Given the description of an element on the screen output the (x, y) to click on. 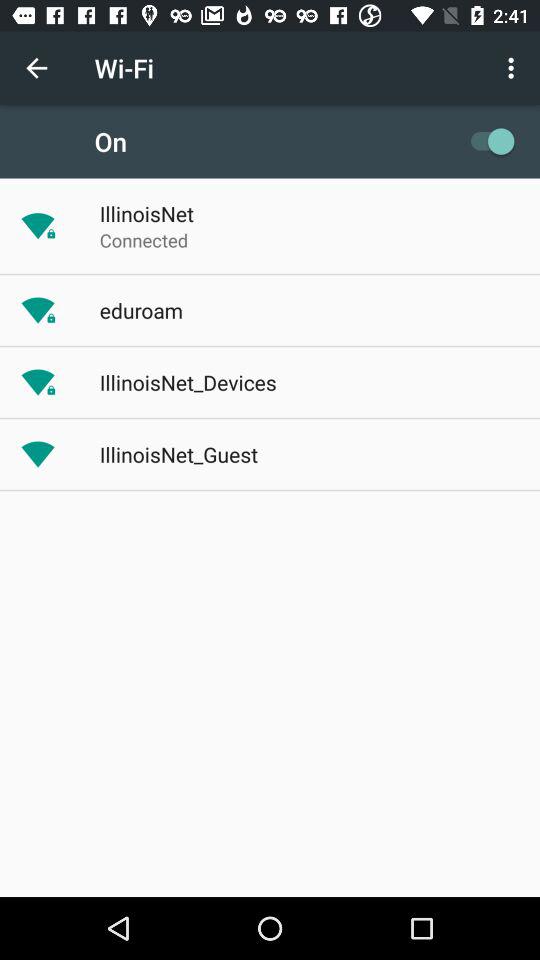
turn off the icon below the illinoisnet app (143, 239)
